Given the description of an element on the screen output the (x, y) to click on. 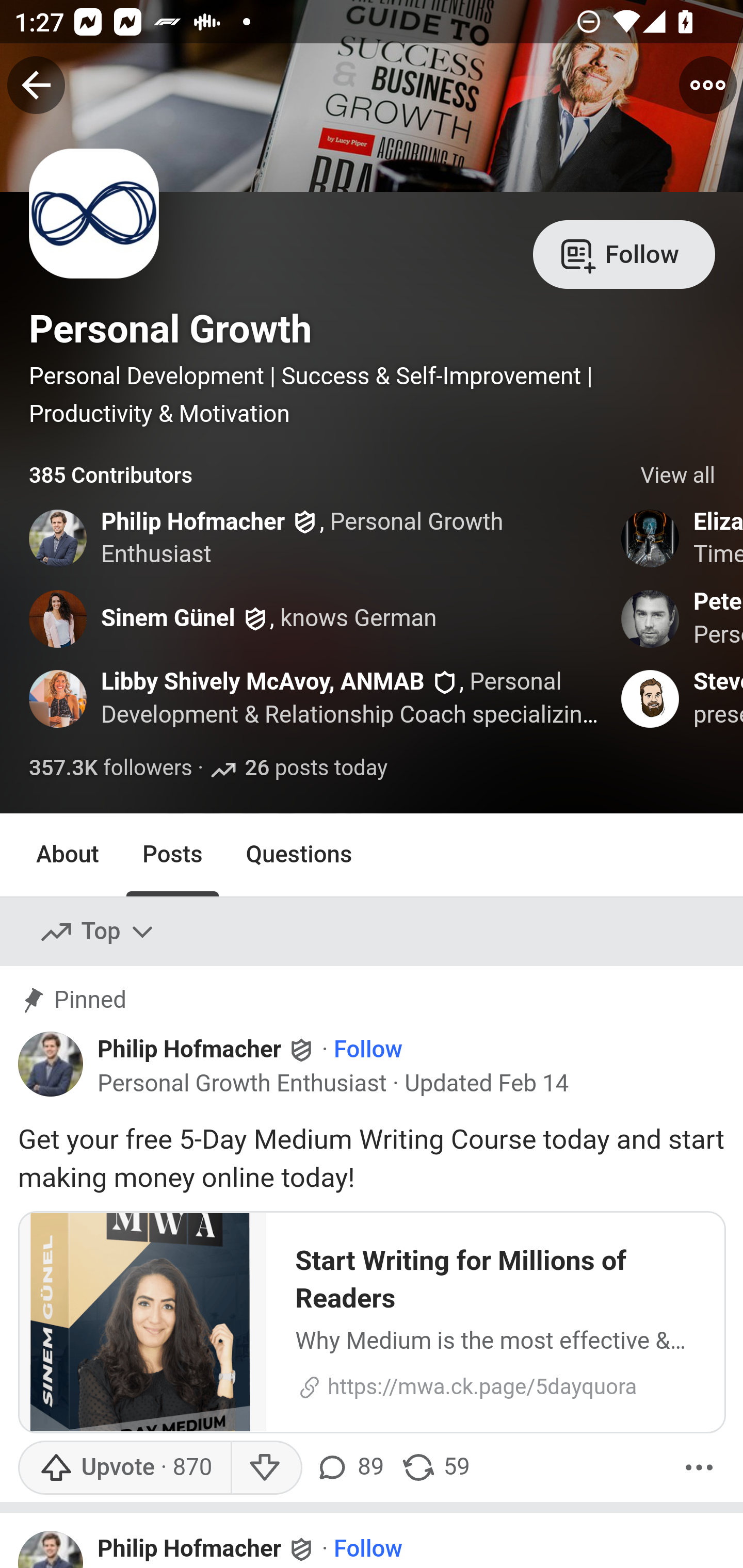
Follow (623, 252)
Personal Growth (170, 329)
View all (677, 475)
Philip Hofmacher (193, 521)
Profile photo for Philip Hofmacher (58, 538)
Profile photo for Elizabeth York (650, 538)
Profile photo for Sinem Günel (58, 617)
Profile photo for Peter Mayer (650, 617)
Sinem Günel (168, 618)
Libby Shively McAvoy, ANMAB (263, 682)
Profile photo for Libby Shively McAvoy, ANMAB (58, 699)
Profile photo for Steve Dani (650, 699)
About (68, 854)
Posts (171, 854)
Questions (299, 854)
Top (97, 931)
Profile photo for Philip Hofmacher (50, 1063)
Philip Hofmacher Philip Hofmacher   (207, 1049)
Follow (368, 1051)
Upvote (124, 1466)
Downvote (266, 1466)
89 comments (352, 1466)
59 shares (434, 1466)
More (699, 1466)
Profile photo for Philip Hofmacher (50, 1548)
Philip Hofmacher (189, 1548)
Follow (368, 1548)
